Given the description of an element on the screen output the (x, y) to click on. 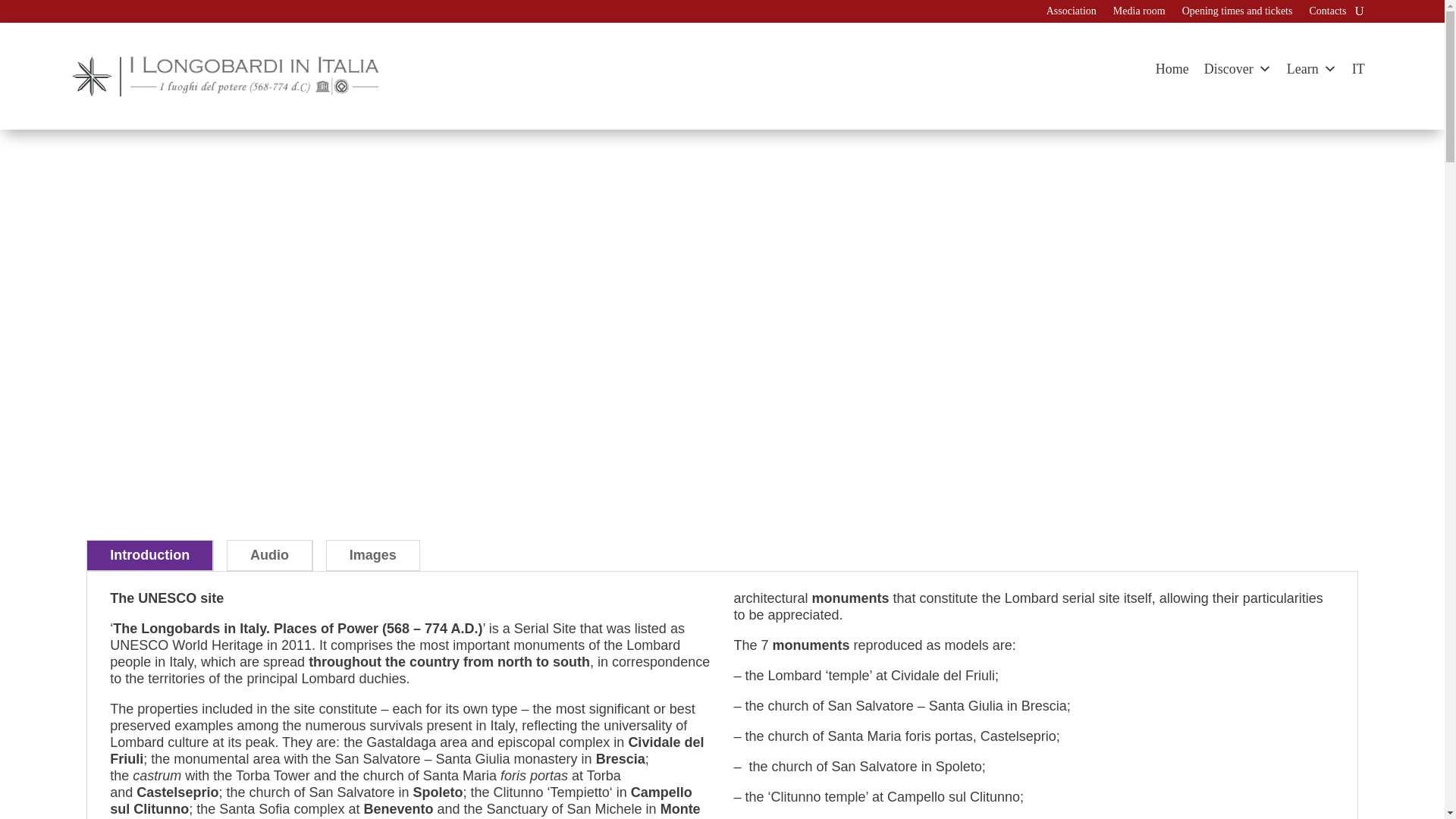
Home (1172, 69)
Association (1071, 13)
Italia Langobardorum logo sf (224, 76)
Opening times and tickets (1237, 13)
Contacts (1326, 13)
Media room (1139, 13)
